Given the description of an element on the screen output the (x, y) to click on. 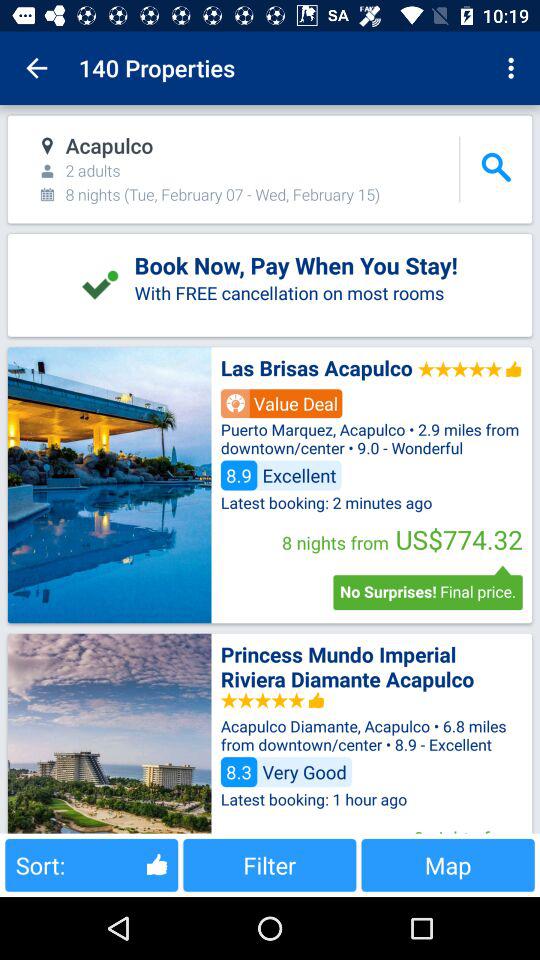
turn off the item next to the 140 properties app (36, 68)
